Given the description of an element on the screen output the (x, y) to click on. 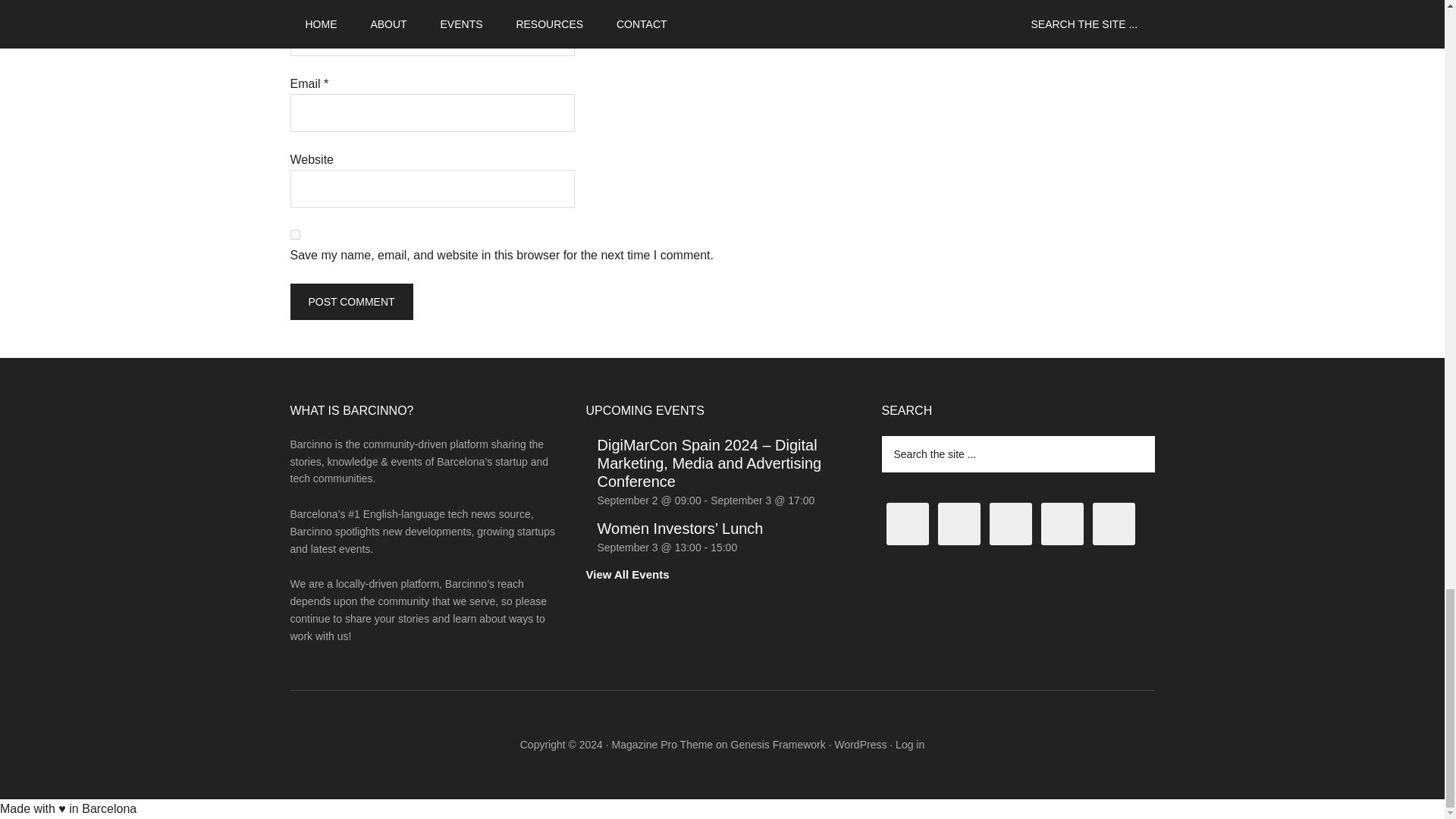
Post Comment (350, 301)
yes (294, 234)
